Given the description of an element on the screen output the (x, y) to click on. 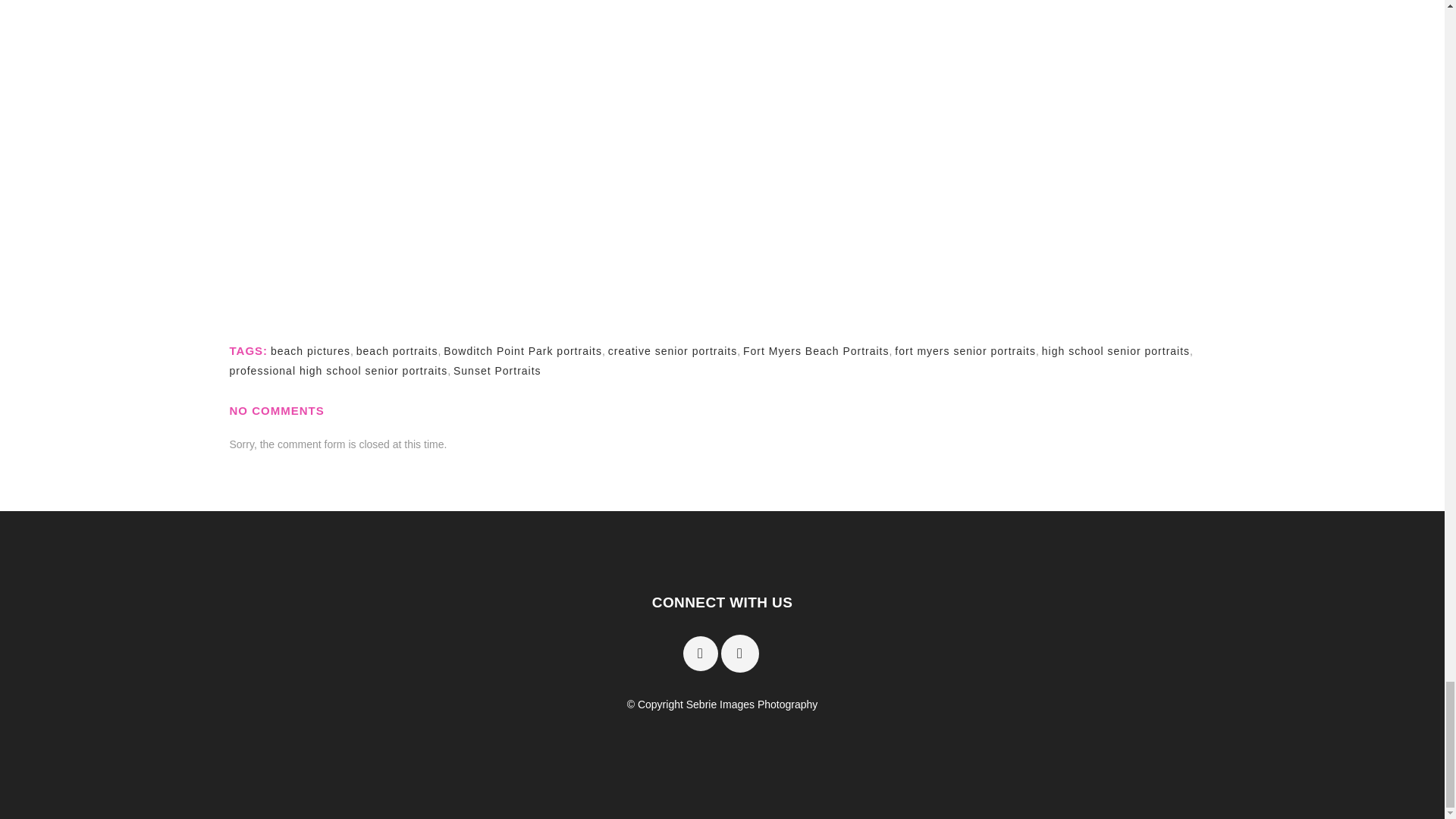
beach pictures (310, 350)
high school senior portraits (1115, 350)
fort myers senior portraits (965, 350)
Bowditch Point Park portraits (523, 350)
Fort Myers Beach Portraits (815, 350)
professional high school senior portraits (337, 370)
creative senior portraits (673, 350)
Sunset Portraits (496, 370)
beach portraits (397, 350)
